Given the description of an element on the screen output the (x, y) to click on. 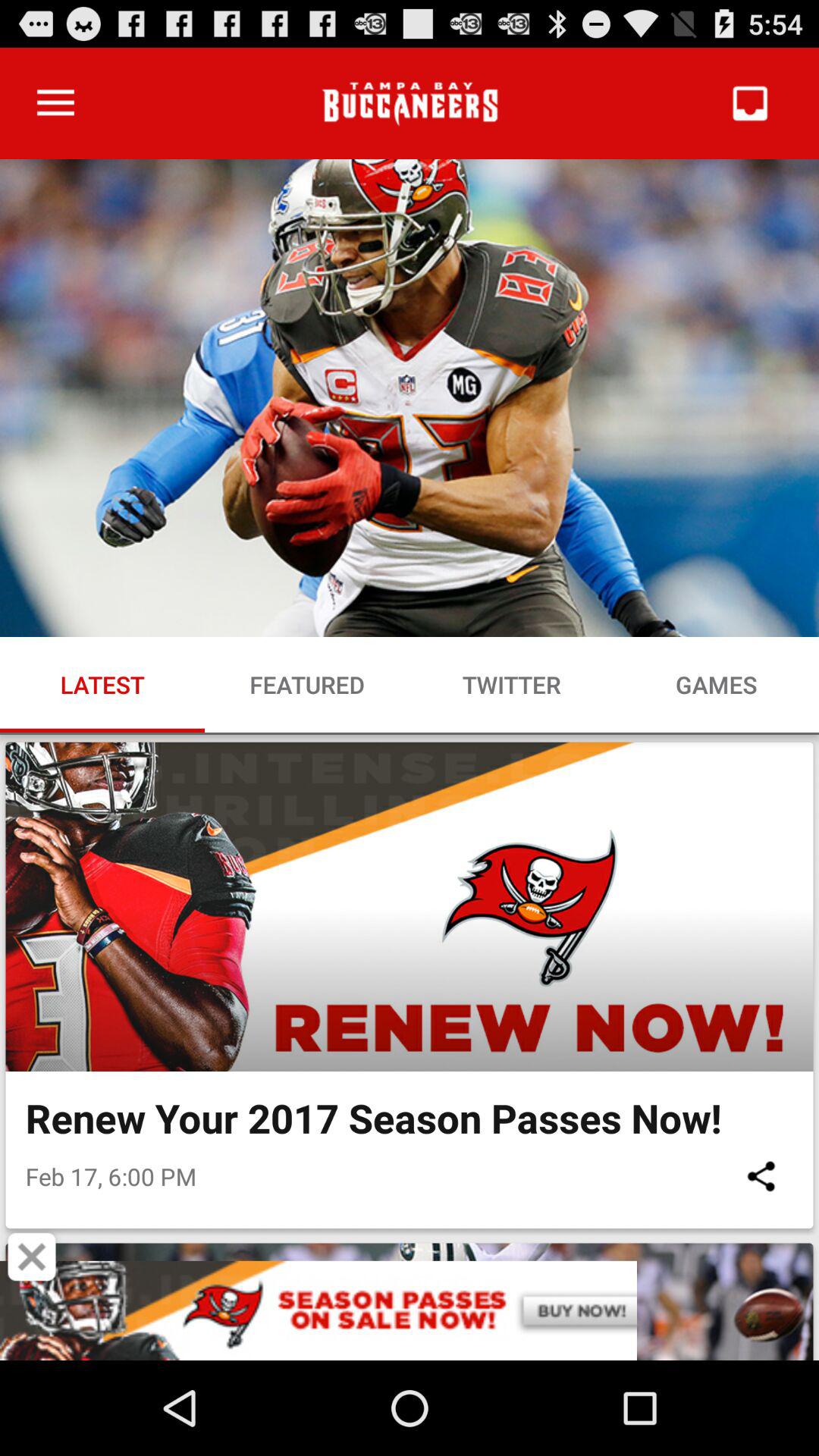
toggle advertisement option (409, 1310)
